Given the description of an element on the screen output the (x, y) to click on. 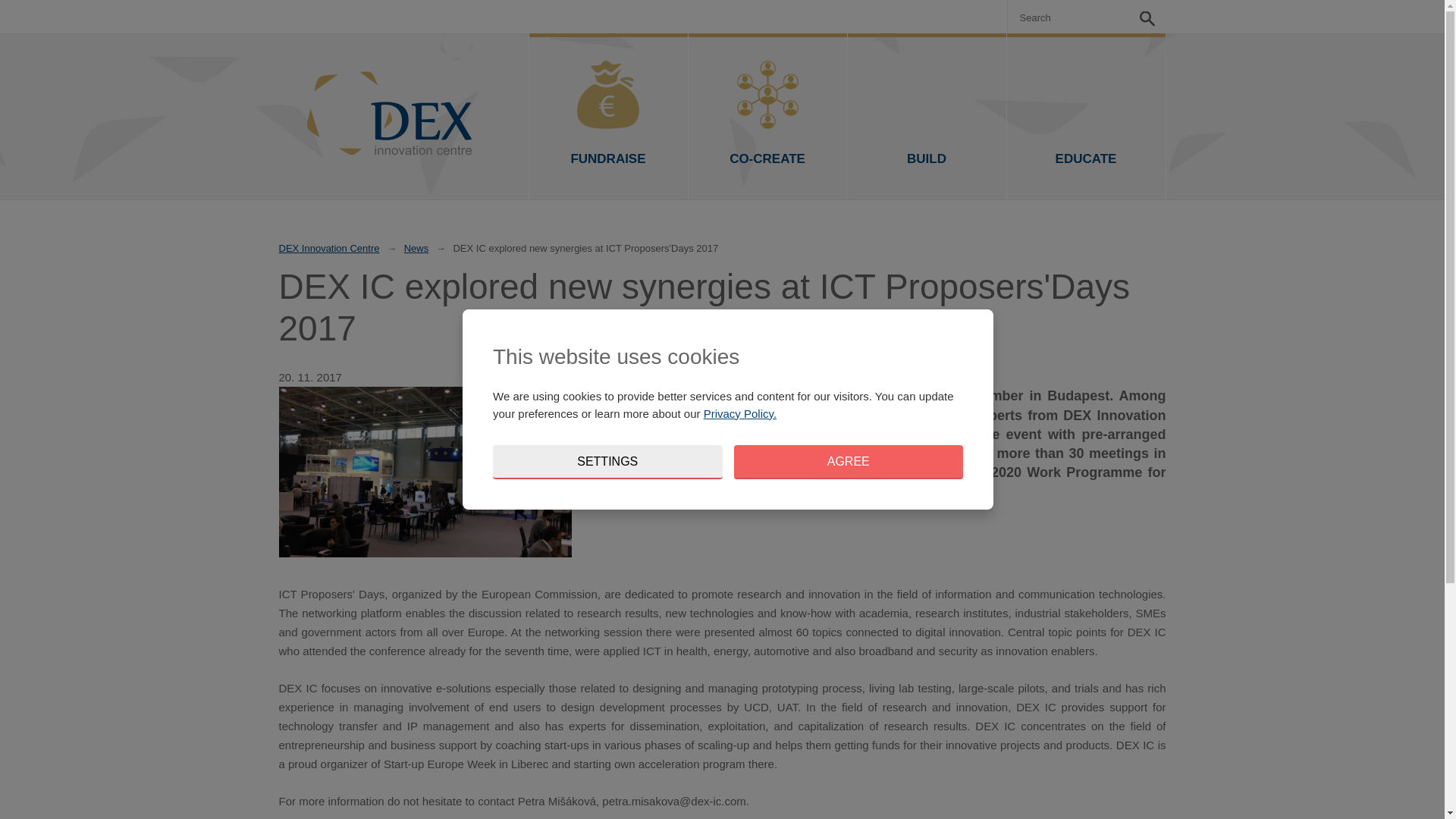
CO-CREATE (767, 116)
AGREE (848, 462)
BUILD (926, 116)
Search (1146, 16)
EDUCATE (1086, 116)
Educate (1086, 116)
Privacy Policy. (739, 413)
FUNDRAISE (608, 116)
Fundraise (608, 116)
Build (926, 116)
Co-create (767, 116)
News (416, 248)
SETTINGS (607, 462)
DEX Innovation Centre (329, 248)
